Given the description of an element on the screen output the (x, y) to click on. 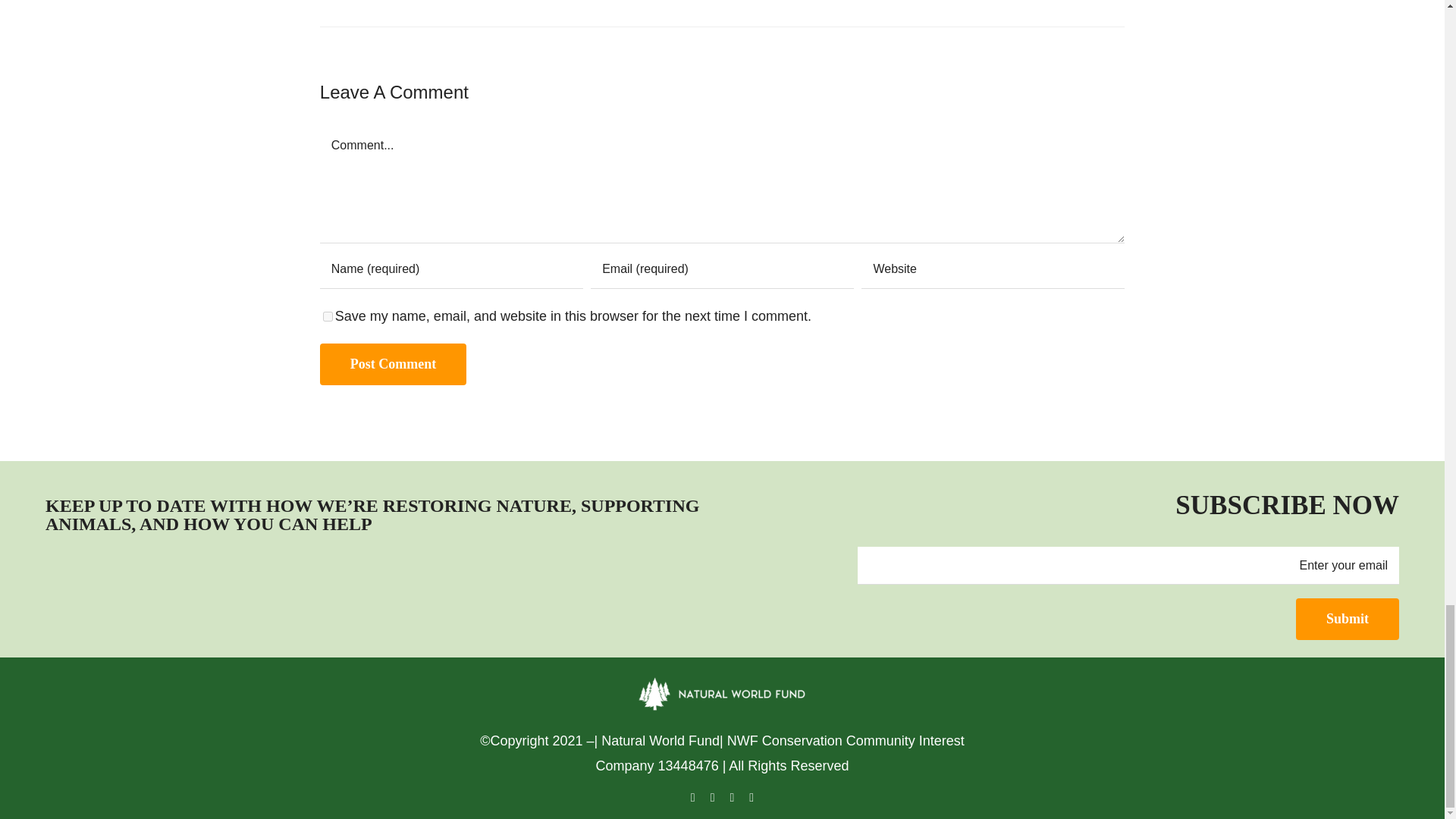
Post Comment (392, 363)
3 (120, 590)
yes (328, 316)
Post Comment (392, 363)
Submit (1347, 618)
Submit (1347, 618)
